Given the description of an element on the screen output the (x, y) to click on. 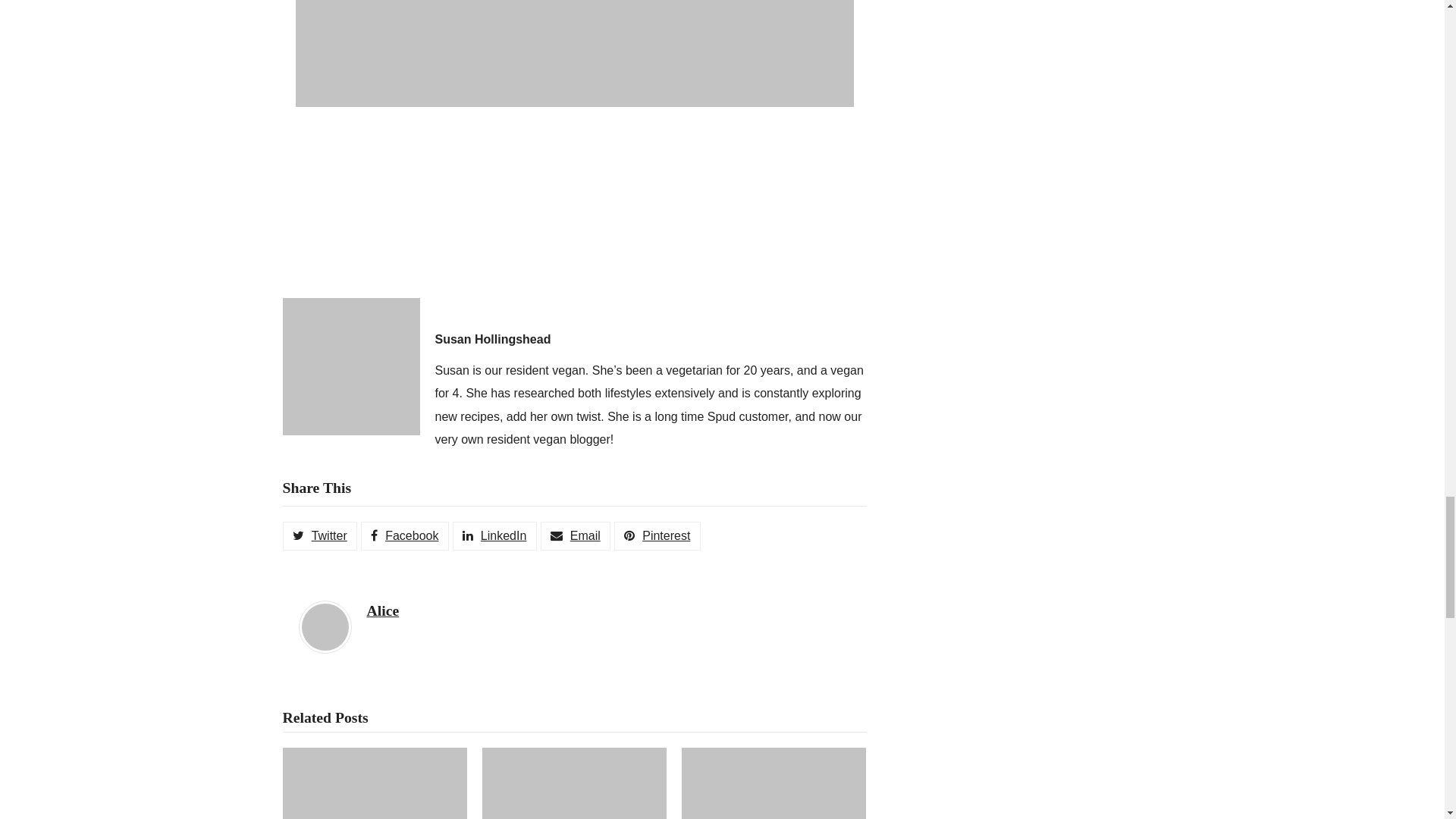
Visit Author Page (325, 625)
Ten Top Gluten Free Items (373, 783)
Visit Author Page (382, 610)
